Given the description of an element on the screen output the (x, y) to click on. 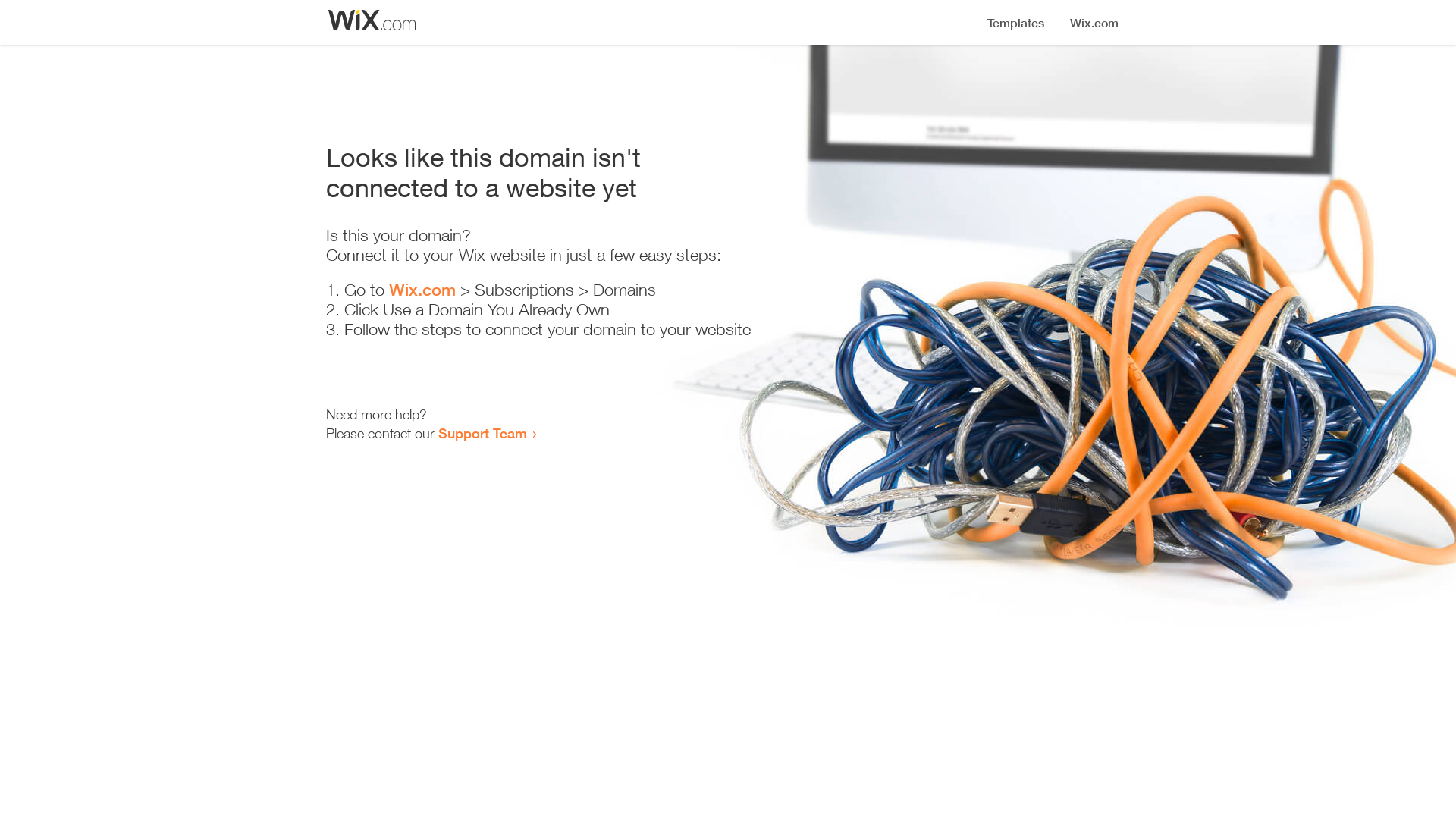
Support Team Element type: text (482, 432)
Wix.com Element type: text (422, 289)
